Given the description of an element on the screen output the (x, y) to click on. 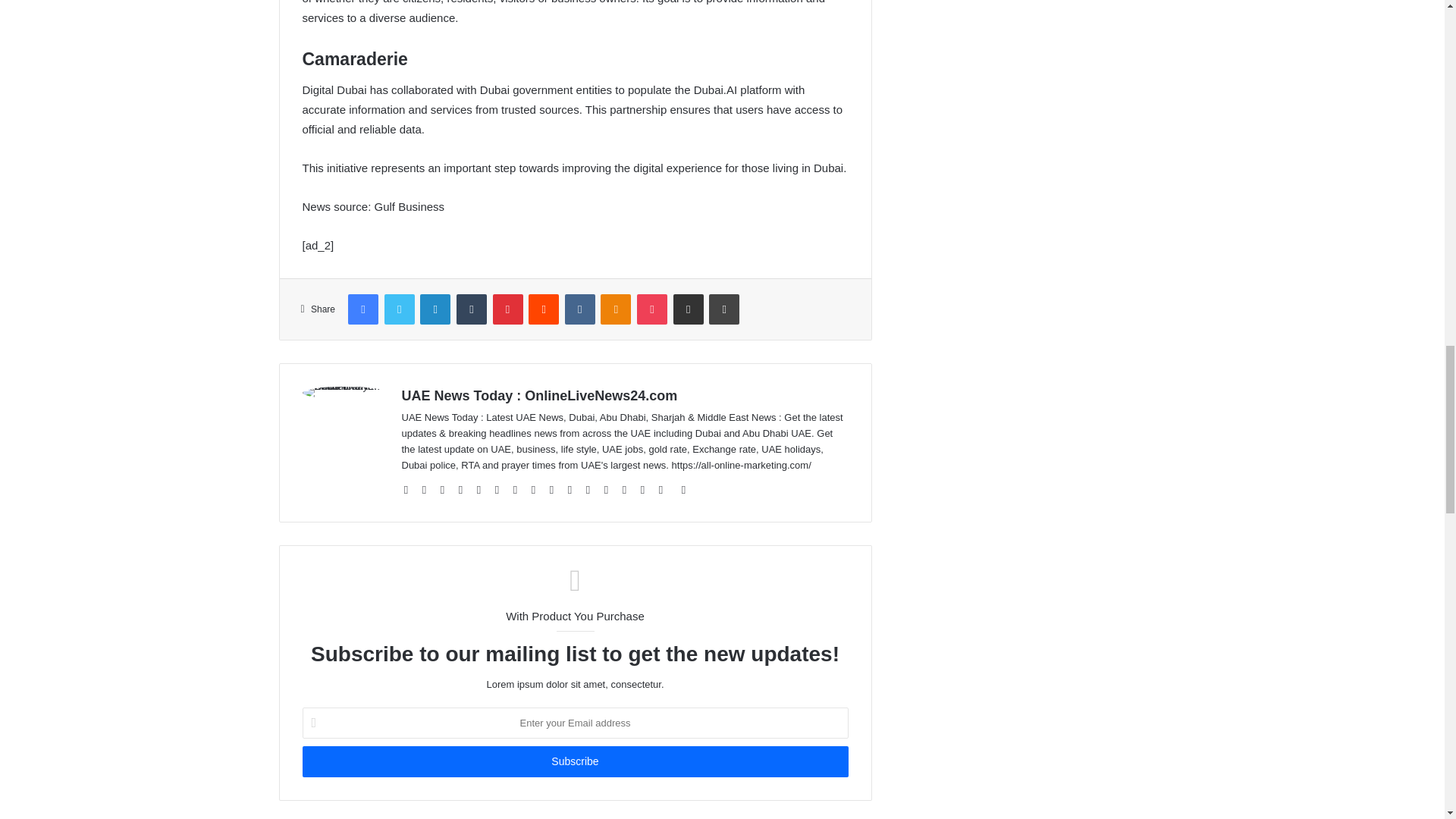
Subscribe (574, 761)
